Given the description of an element on the screen output the (x, y) to click on. 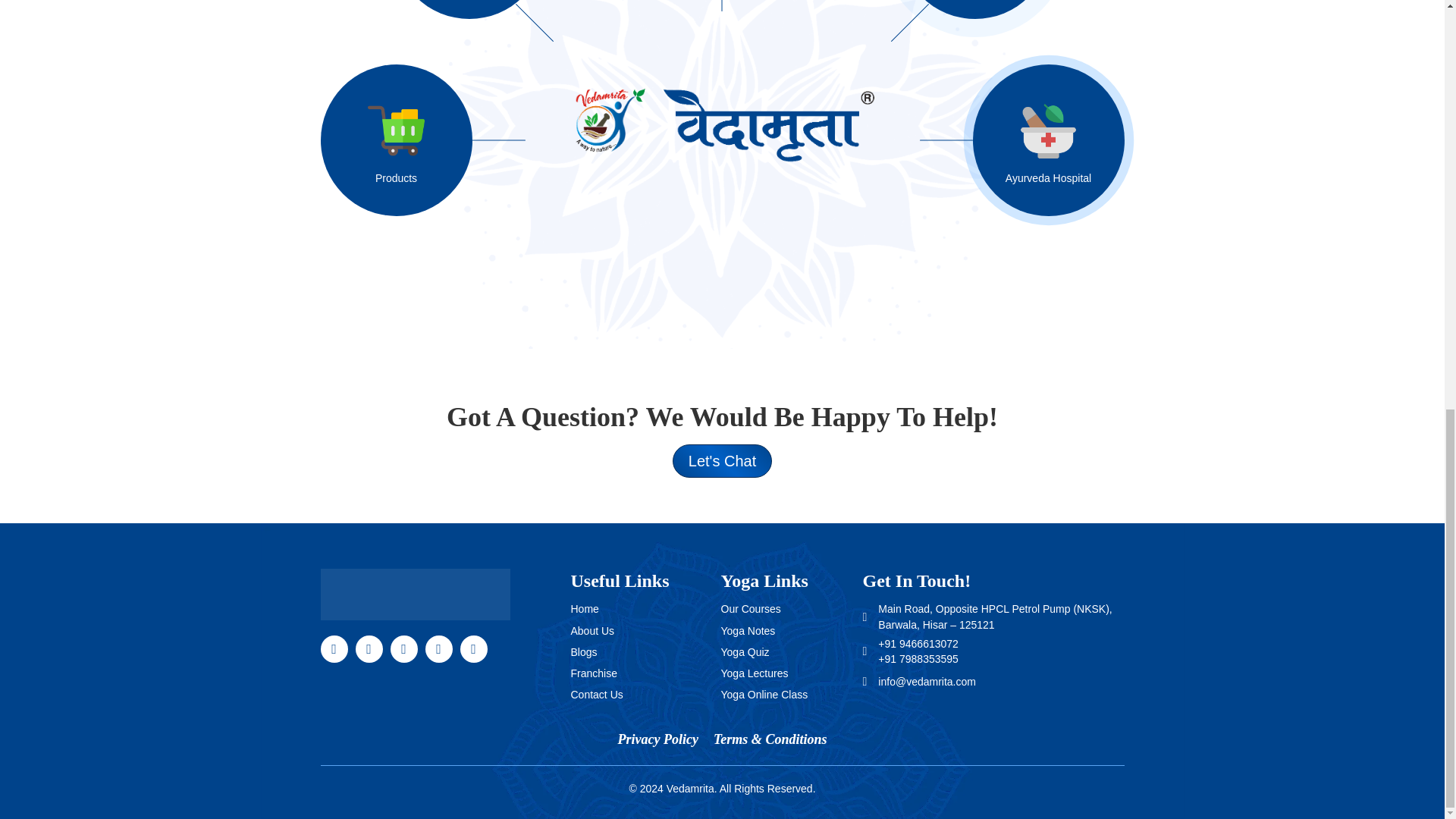
Products (432, 140)
logo-white (414, 593)
Let's Chat (721, 460)
Ayurveda Hospital (1011, 140)
Blogs (583, 652)
Home (584, 608)
Courses (432, 9)
Franchise (592, 673)
Doctor Consultant (1011, 9)
About Us (592, 630)
